Given the description of an element on the screen output the (x, y) to click on. 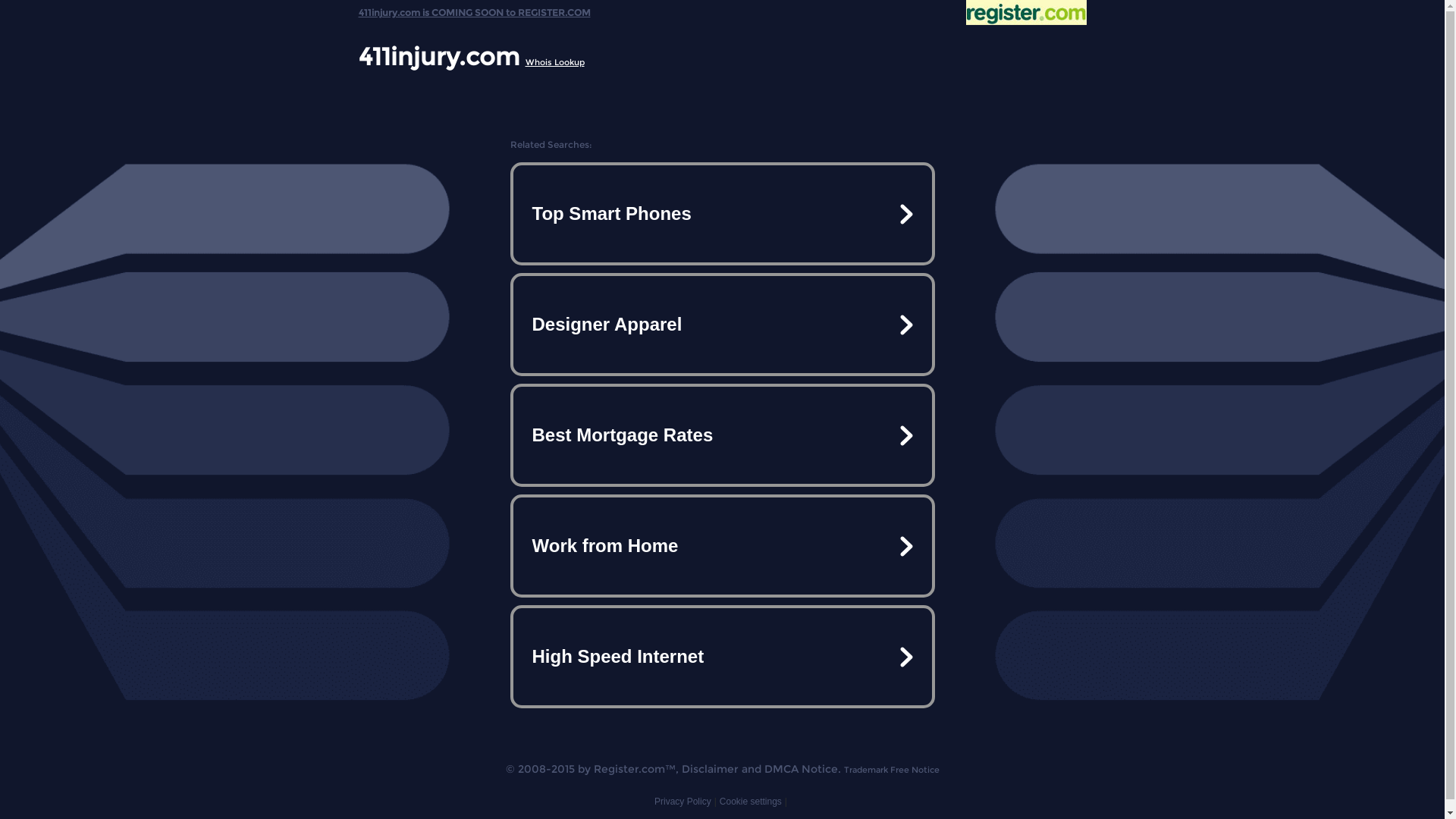
Trademark Free Notice Element type: text (890, 769)
High Speed Internet Element type: text (721, 656)
Work from Home Element type: text (721, 545)
Whois Lookup Element type: text (553, 61)
Privacy Policy Element type: text (682, 801)
411injury.com is COMING SOON to REGISTER.COM Element type: text (473, 9)
411injury.com Element type: text (437, 56)
Best Mortgage Rates Element type: text (721, 434)
Designer Apparel Element type: text (721, 324)
Top Smart Phones Element type: text (721, 213)
Cookie settings Element type: text (750, 801)
